Given the description of an element on the screen output the (x, y) to click on. 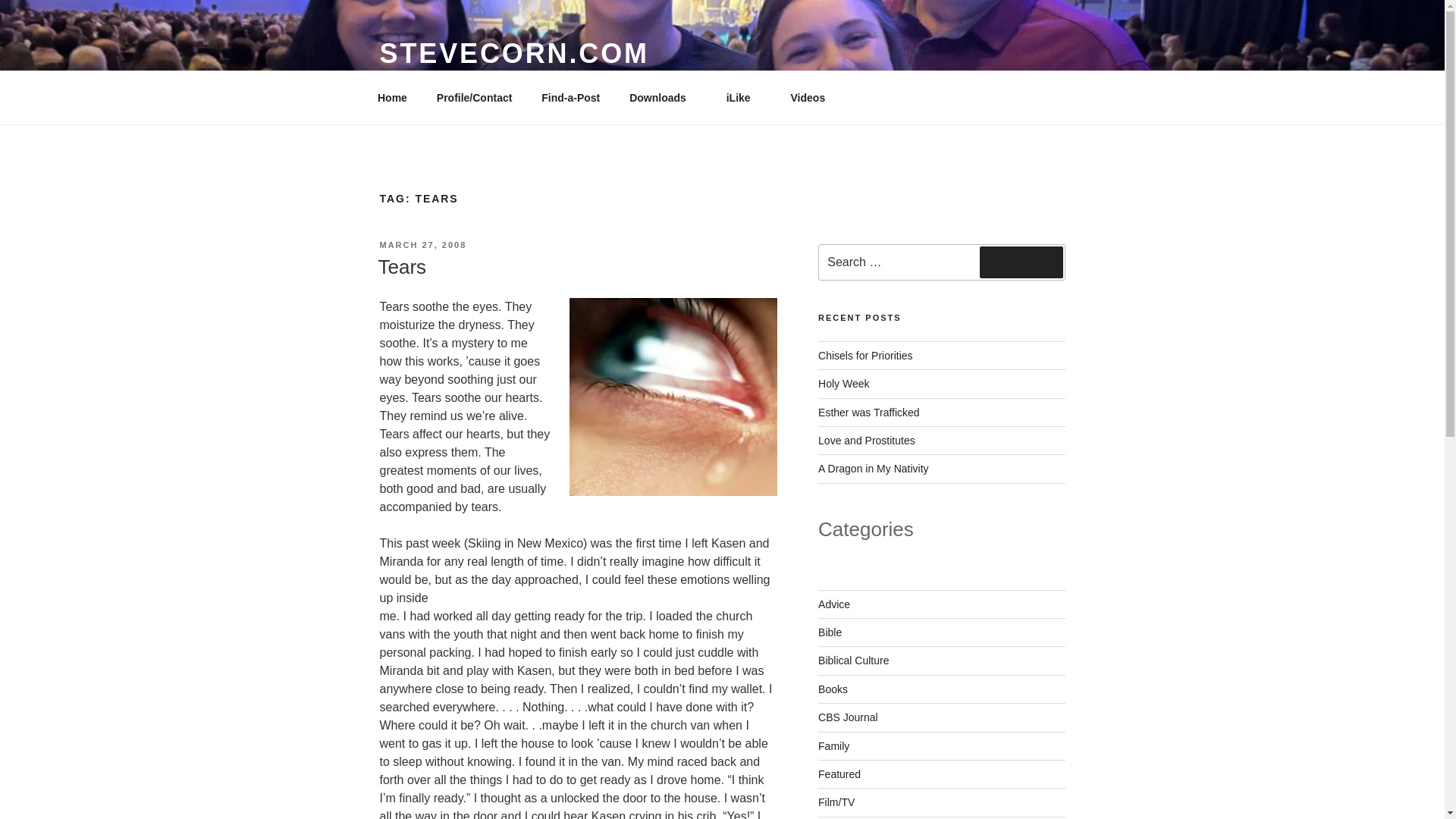
A Dragon in My Nativity (873, 468)
Love and Prostitutes (866, 440)
Advice (834, 604)
Chisels for Priorities (865, 355)
Tears (401, 266)
CBS Journal (847, 717)
Bible (829, 632)
MARCH 27, 2008 (421, 244)
Esther was Trafficked (869, 412)
STEVECORN.COM (512, 52)
Search (1020, 262)
iLike (743, 97)
Books (832, 689)
Find-a-Post (570, 97)
Family (833, 746)
